Given the description of an element on the screen output the (x, y) to click on. 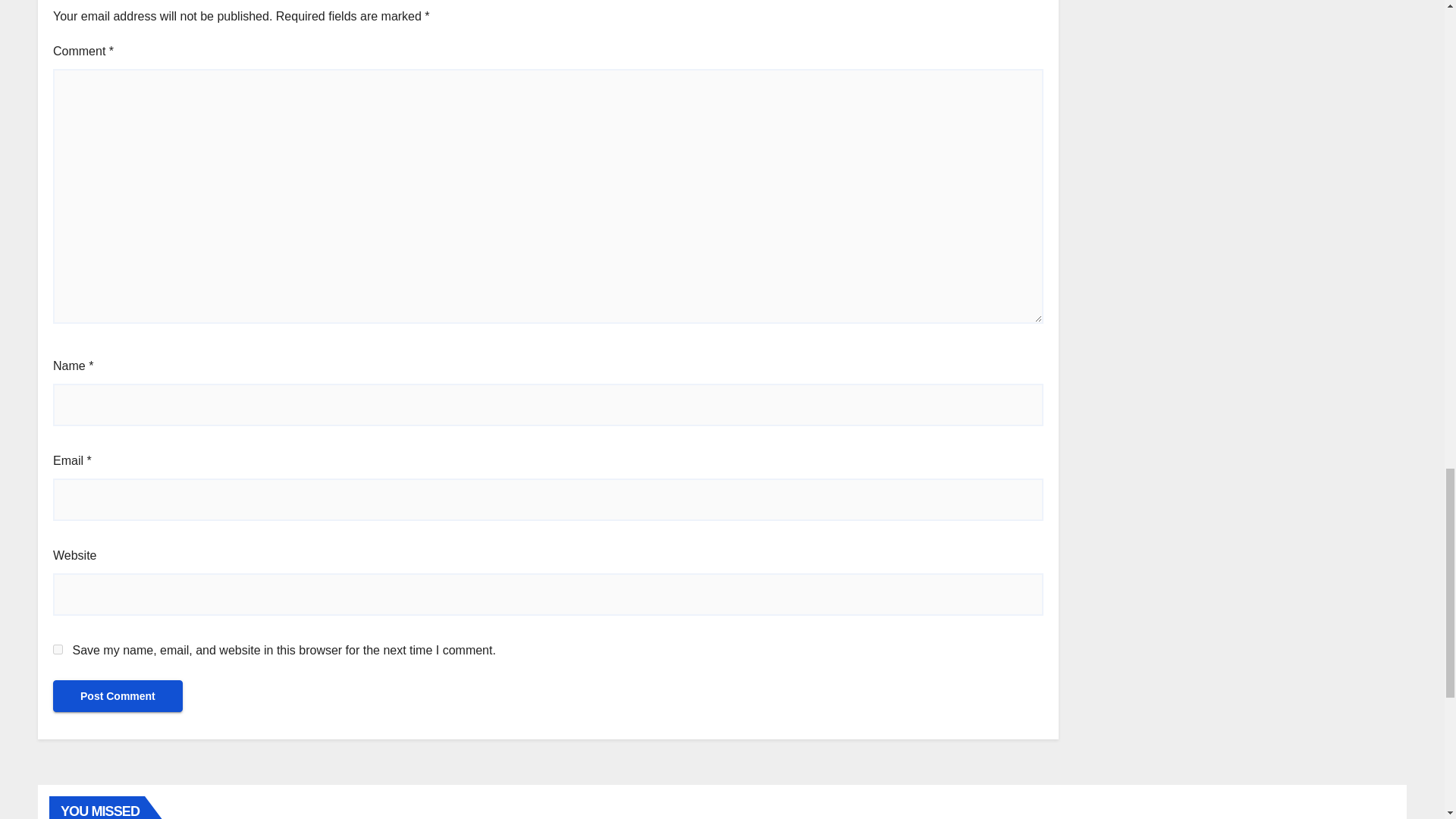
yes (57, 649)
Post Comment (117, 695)
Post Comment (117, 695)
